Given the description of an element on the screen output the (x, y) to click on. 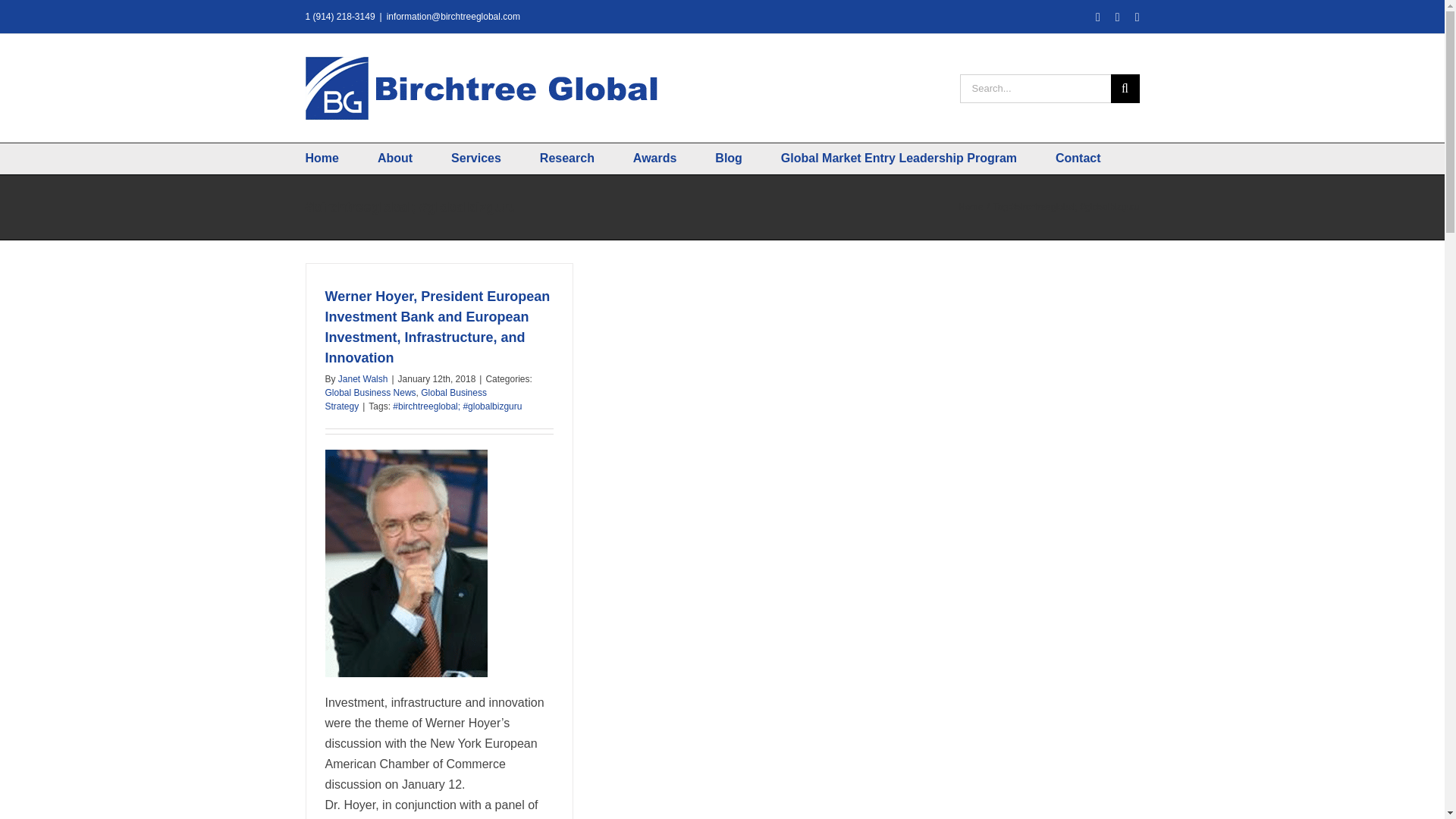
Services (495, 158)
Research (586, 158)
Global Market Entry Leadership Program (917, 158)
Contact (1097, 158)
Awards (673, 158)
Blog (747, 158)
Posts by Janet Walsh (362, 378)
Home (340, 158)
About (414, 158)
